Given the description of an element on the screen output the (x, y) to click on. 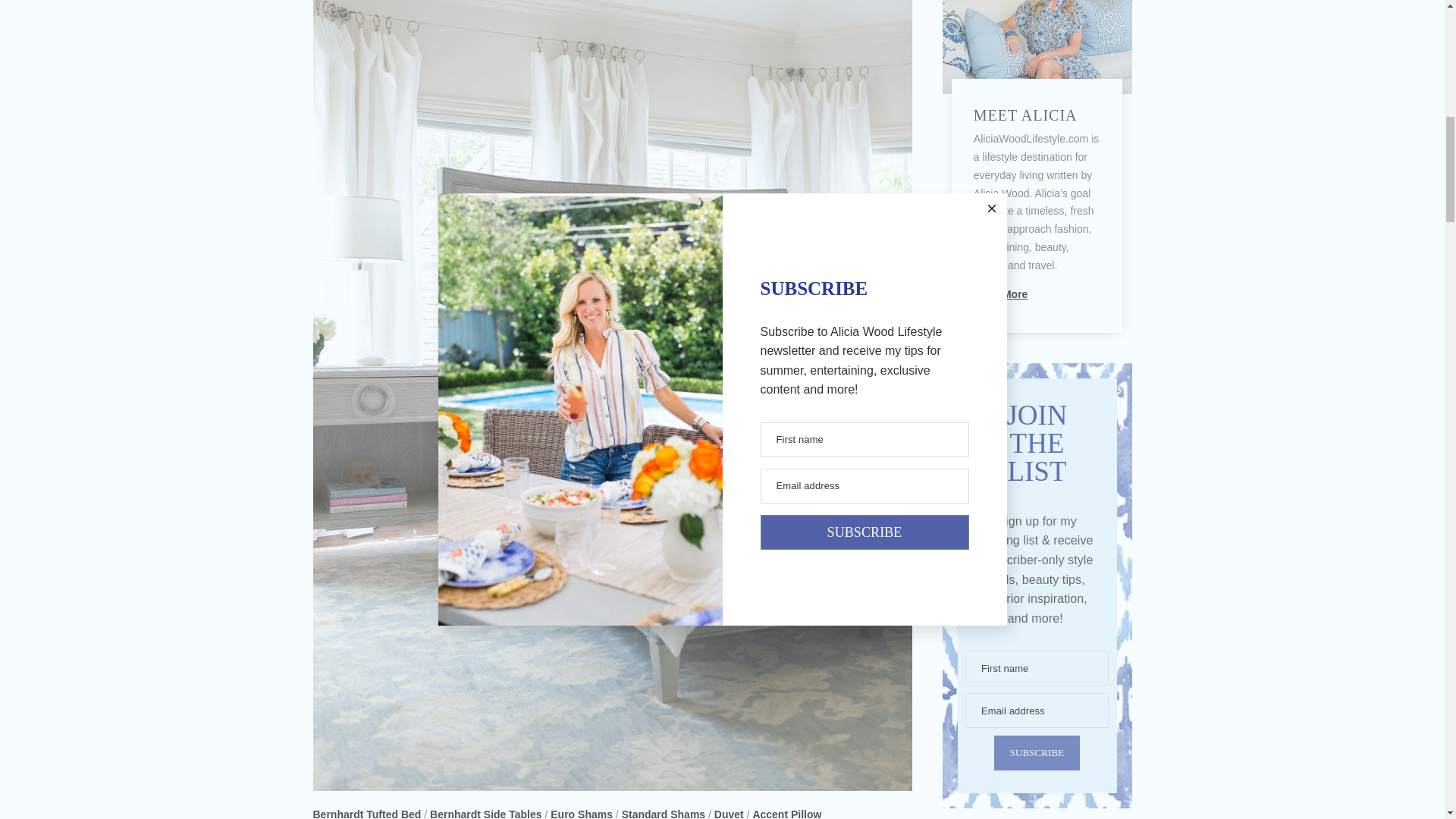
AWL-about-page-image-400-033022 (1036, 47)
